Given the description of an element on the screen output the (x, y) to click on. 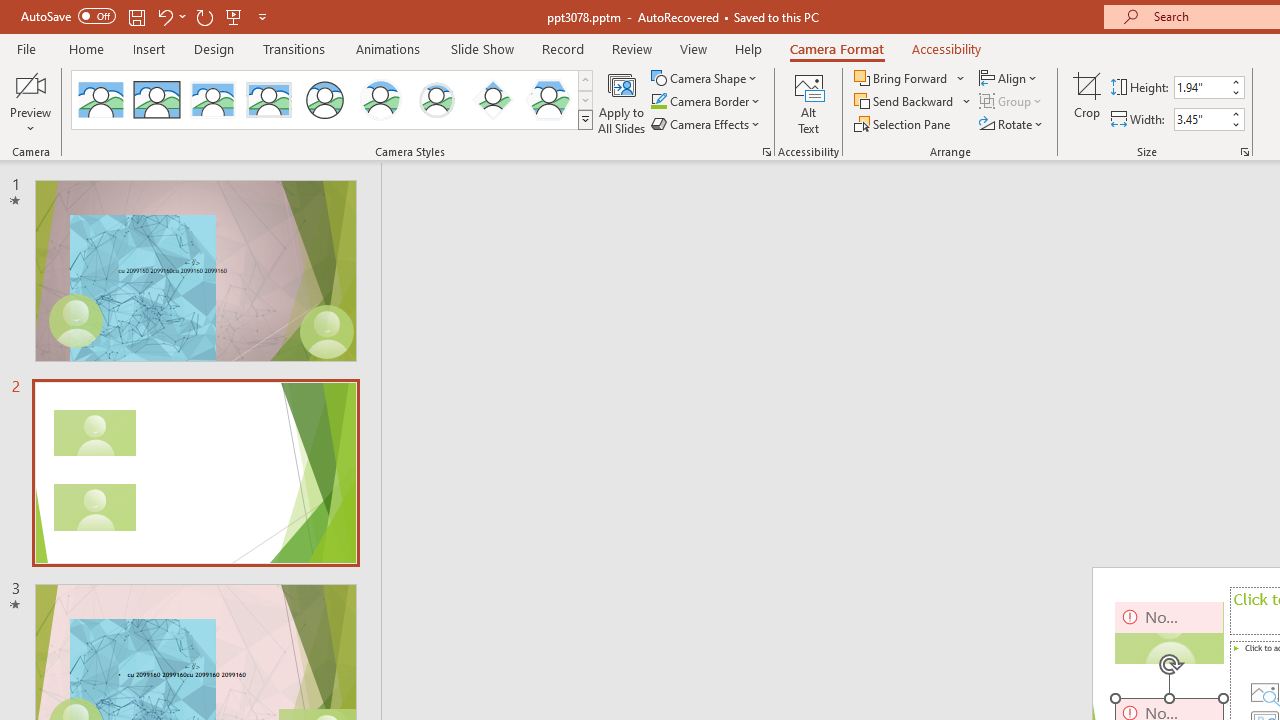
Soft Edge Rectangle (268, 100)
Center Shadow Hexagon (548, 100)
Align (1009, 78)
Camera Shape (705, 78)
AutomationID: CameoStylesGallery (333, 99)
Camera Border Green, Accent 1 (658, 101)
